Given the description of an element on the screen output the (x, y) to click on. 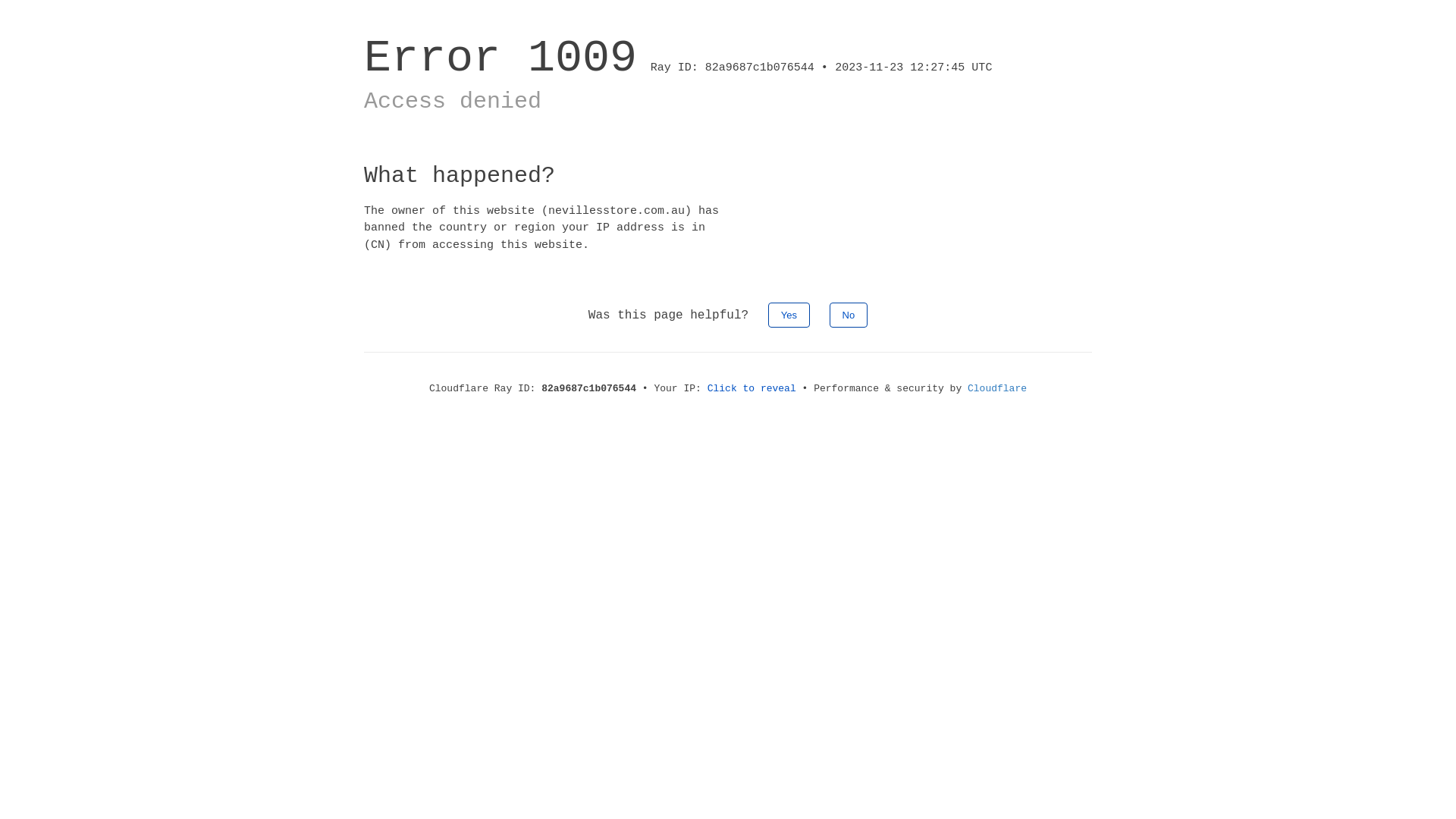
Click to reveal Element type: text (751, 388)
Cloudflare Element type: text (996, 388)
Yes Element type: text (788, 314)
No Element type: text (848, 314)
